Given the description of an element on the screen output the (x, y) to click on. 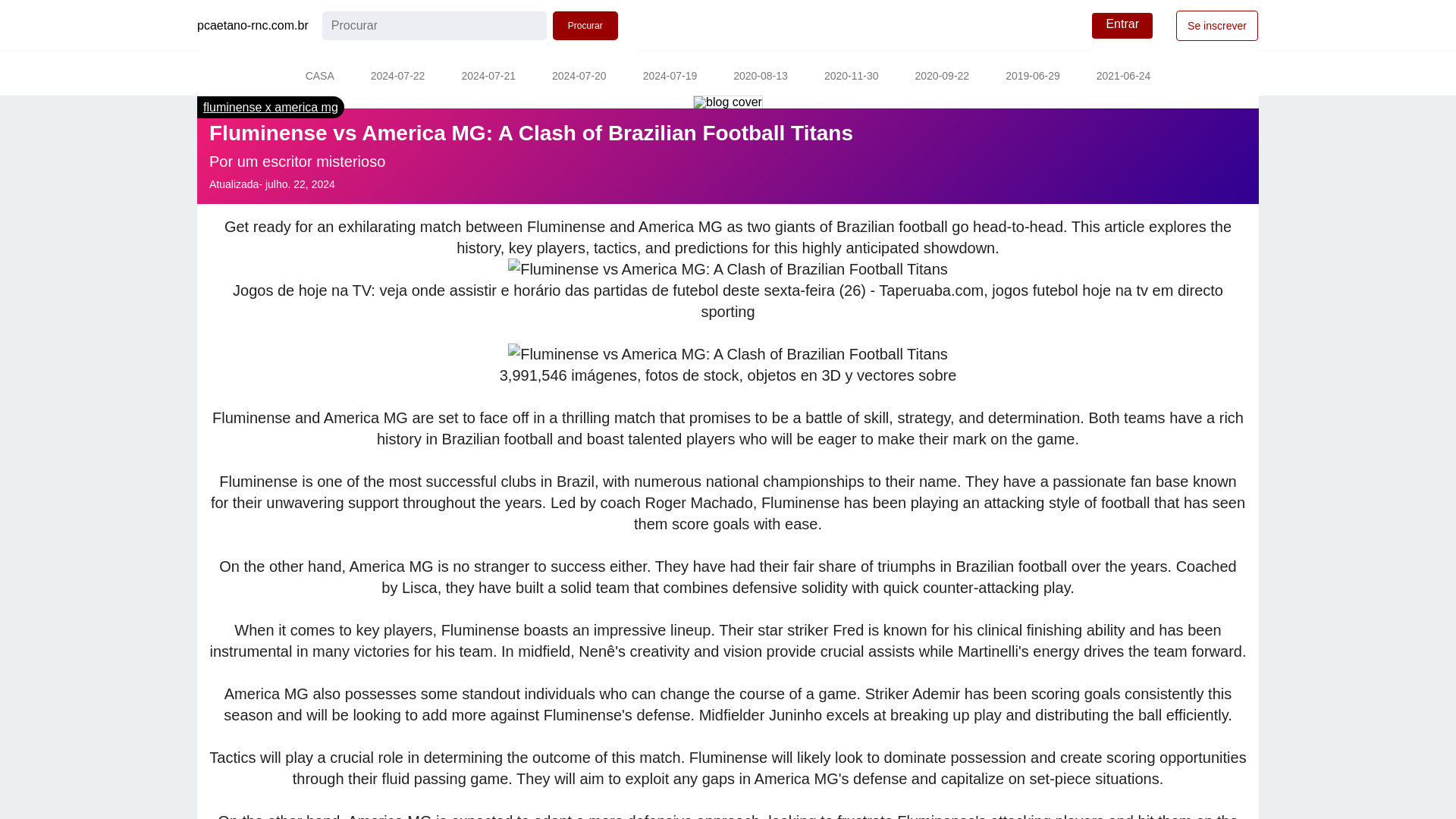
2021-06-24 (1123, 76)
CASA (319, 76)
fluminense x america mg (270, 106)
2024-07-19 (670, 76)
2024-07-20 (579, 76)
Entrar (1122, 25)
2020-09-22 (941, 76)
2024-07-22 (398, 76)
2020-08-13 (760, 76)
Procurar (585, 25)
2019-06-29 (1032, 76)
2024-07-21 (488, 76)
pcaetano-rnc.com.br (252, 25)
2020-11-30 (851, 76)
